Given the description of an element on the screen output the (x, y) to click on. 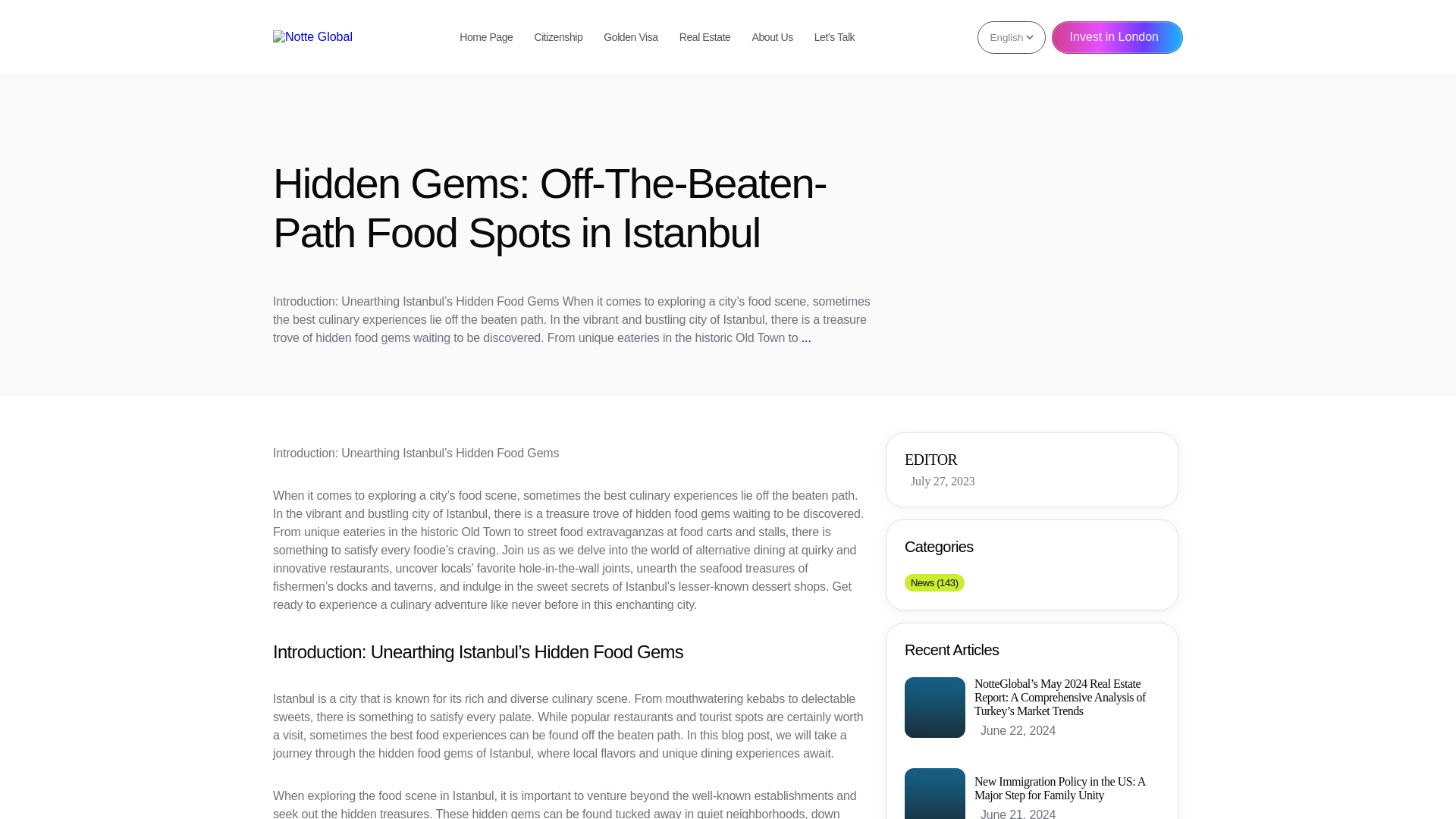
Let's Talk (833, 37)
Home Page (486, 37)
About Us (772, 37)
Real Estate (704, 37)
Citizenship (558, 37)
Invest in London (1116, 37)
Golden Visa (631, 37)
